Given the description of an element on the screen output the (x, y) to click on. 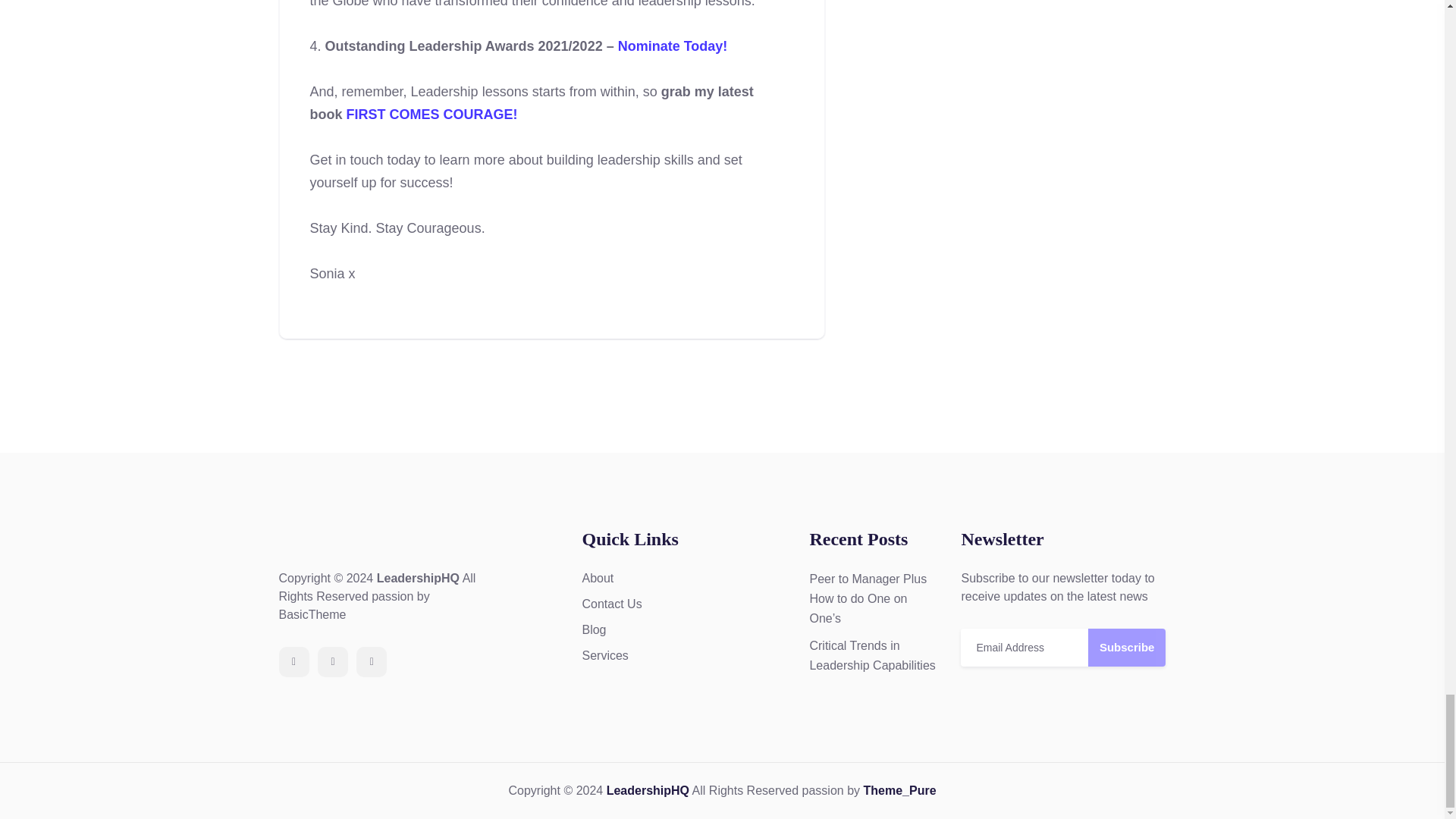
Nominate Today! (672, 46)
FIRST COMES COURAGE! (432, 114)
